Given the description of an element on the screen output the (x, y) to click on. 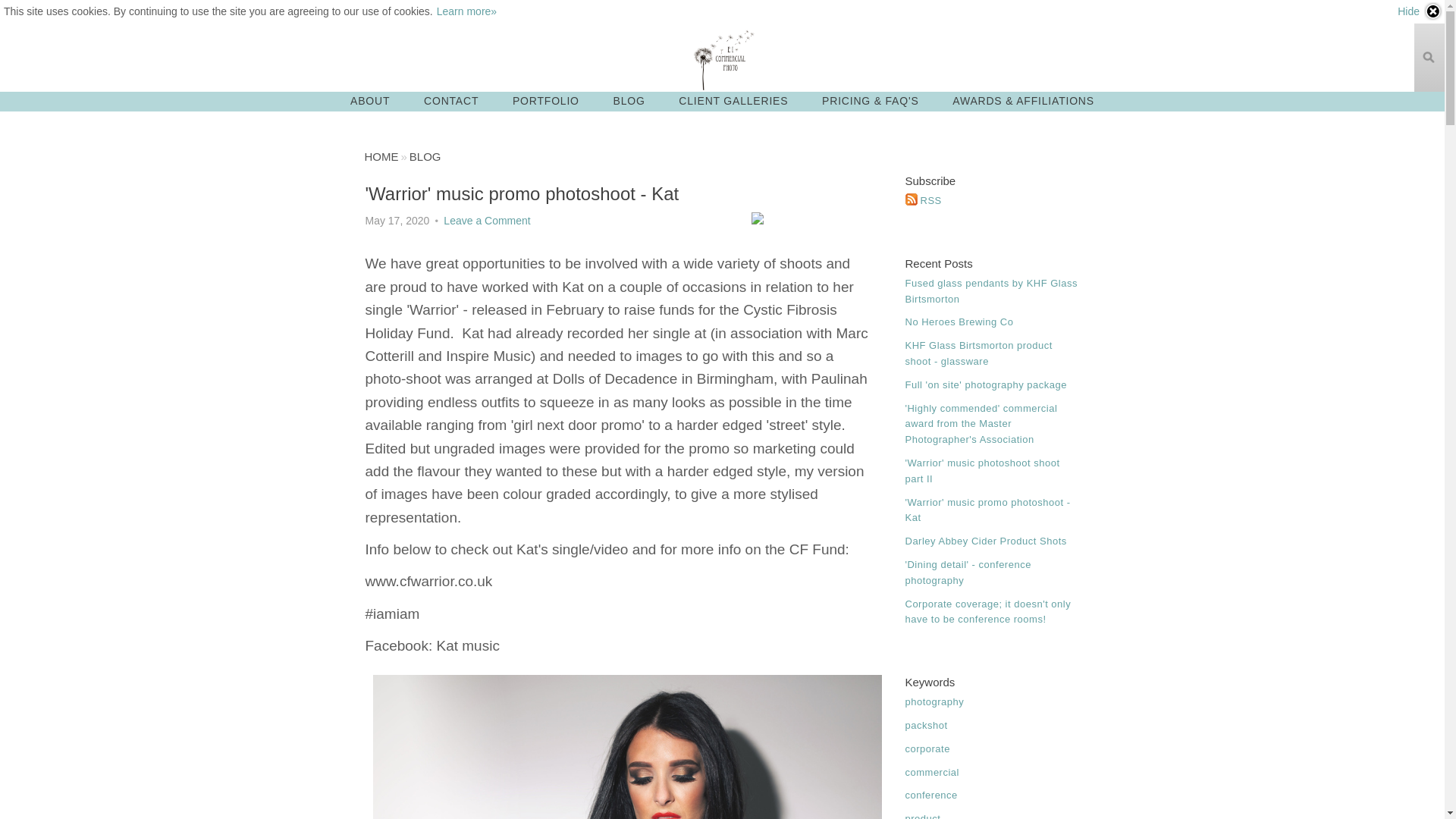
Leave a Comment (486, 220)
ABOUT (369, 100)
EI Commercial Photo (722, 57)
BLOG (629, 100)
BLOG (425, 155)
CLIENT GALLERIES (733, 100)
CONTACT (451, 100)
HOME (380, 155)
EI Commercial Photo (380, 155)
Hide (1419, 11)
PORTFOLIO (545, 100)
